Given the description of an element on the screen output the (x, y) to click on. 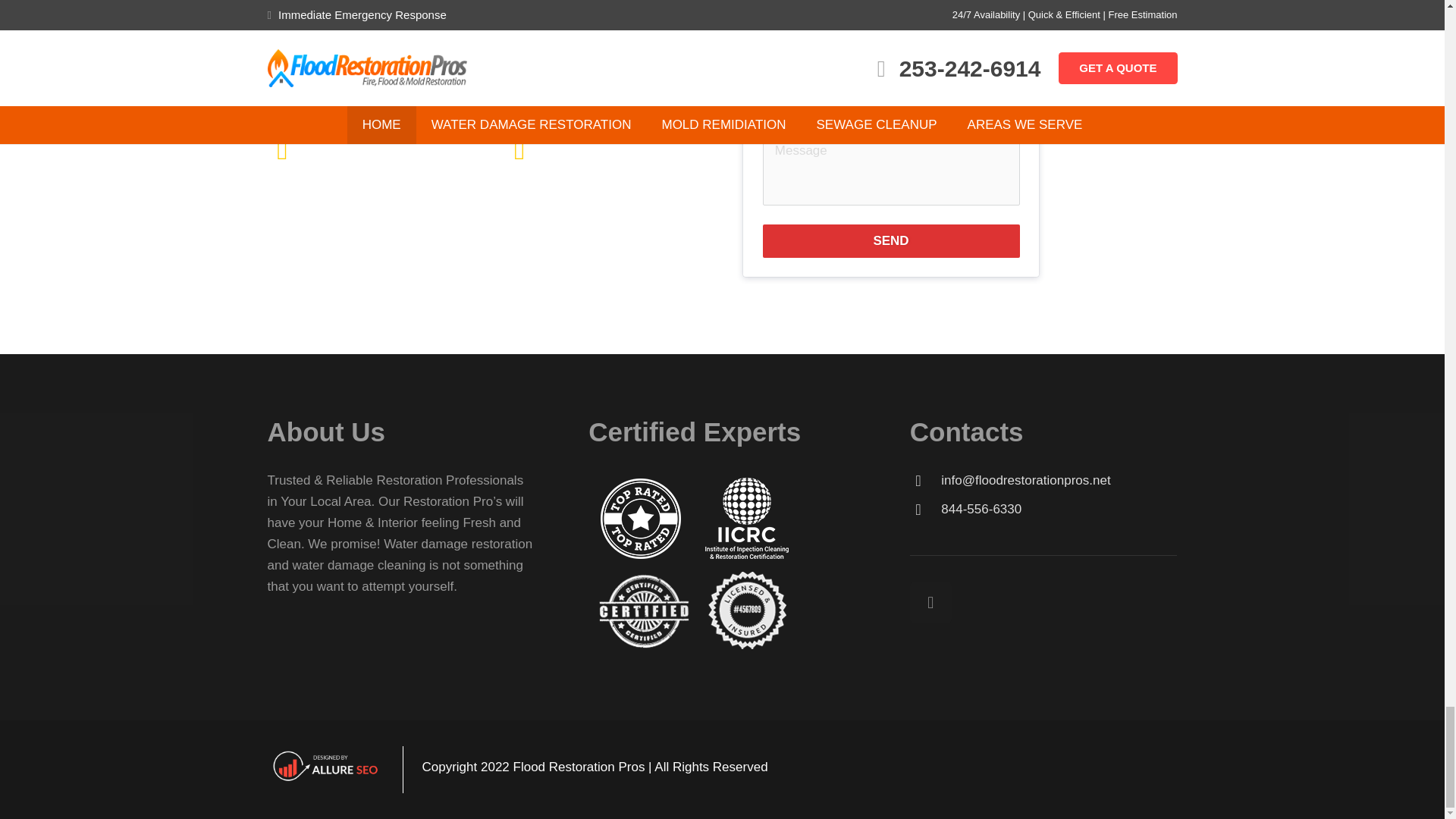
844-556-6330 (1058, 509)
SEND (891, 240)
